Given the description of an element on the screen output the (x, y) to click on. 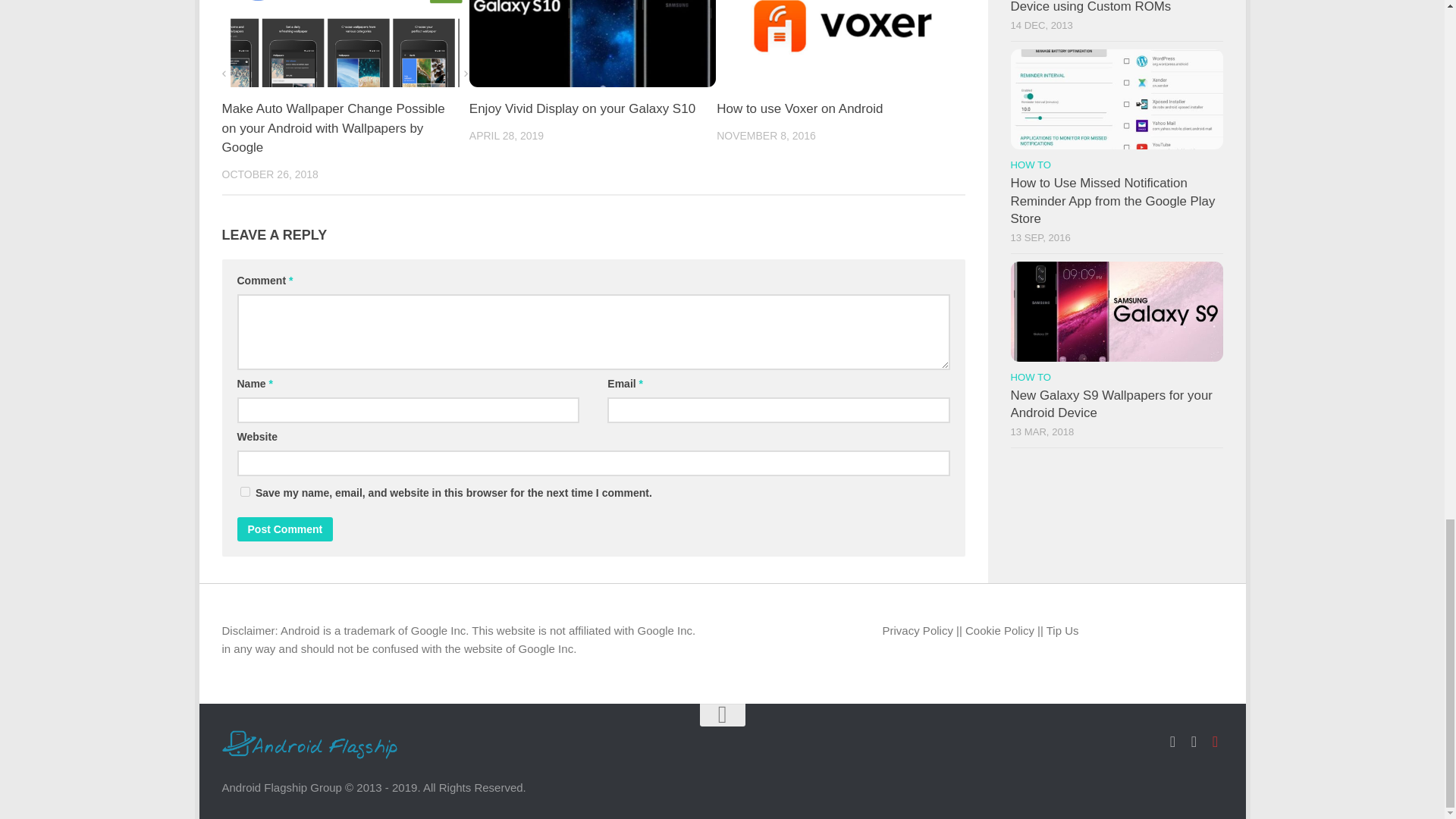
Enjoy Vivid Display on your Galaxy S10 (581, 108)
Post Comment (284, 528)
Permalink to Enjoy Vivid Display on your Galaxy S10 (581, 108)
Post Comment (284, 528)
yes (244, 491)
Permalink to How to use Voxer on Android (799, 108)
How to use Voxer on Android (799, 108)
